Given the description of an element on the screen output the (x, y) to click on. 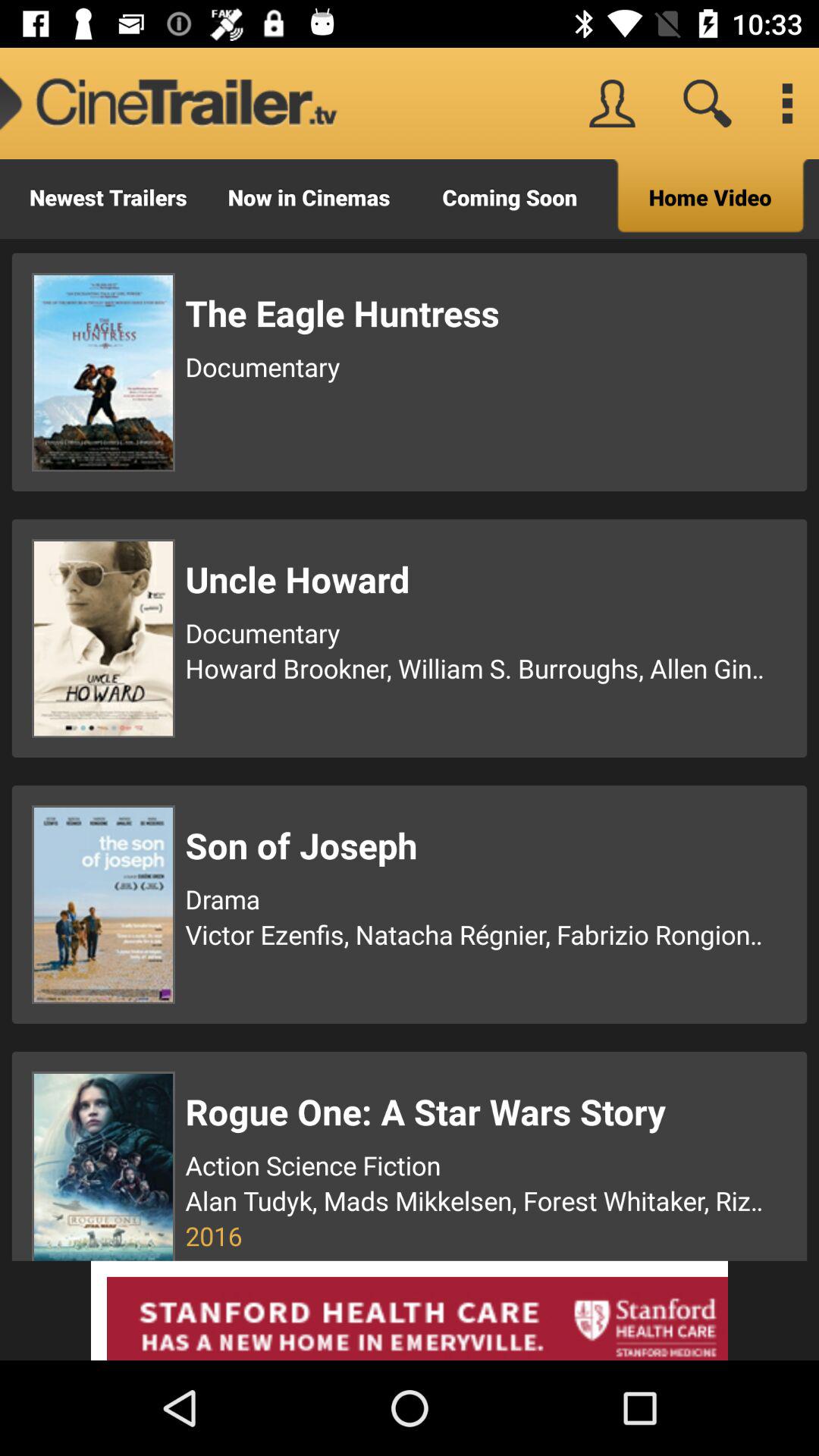
choose icon next to now in cinemas (509, 198)
